Given the description of an element on the screen output the (x, y) to click on. 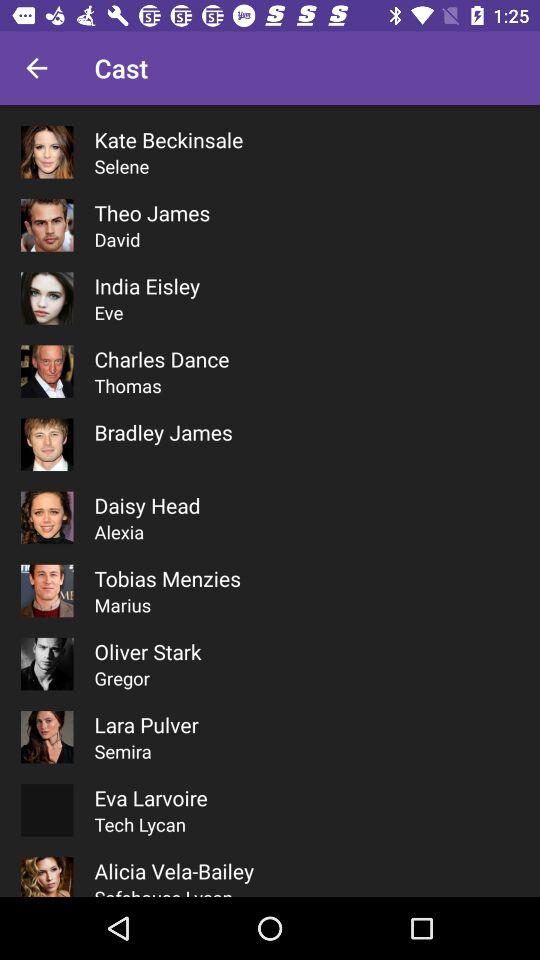
flip to eva larvoire icon (150, 797)
